Given the description of an element on the screen output the (x, y) to click on. 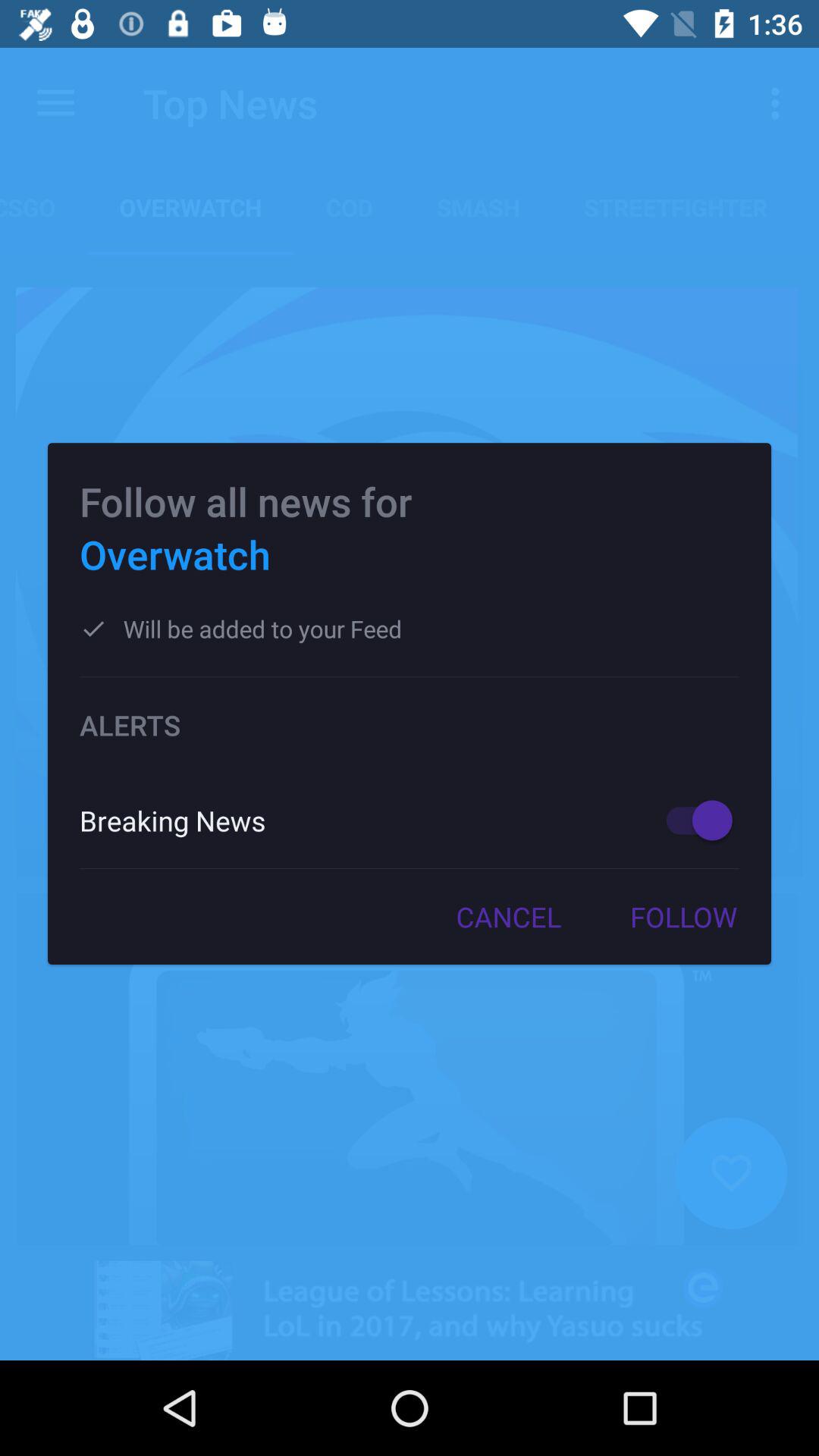
toggle breaking news option (691, 820)
